Given the description of an element on the screen output the (x, y) to click on. 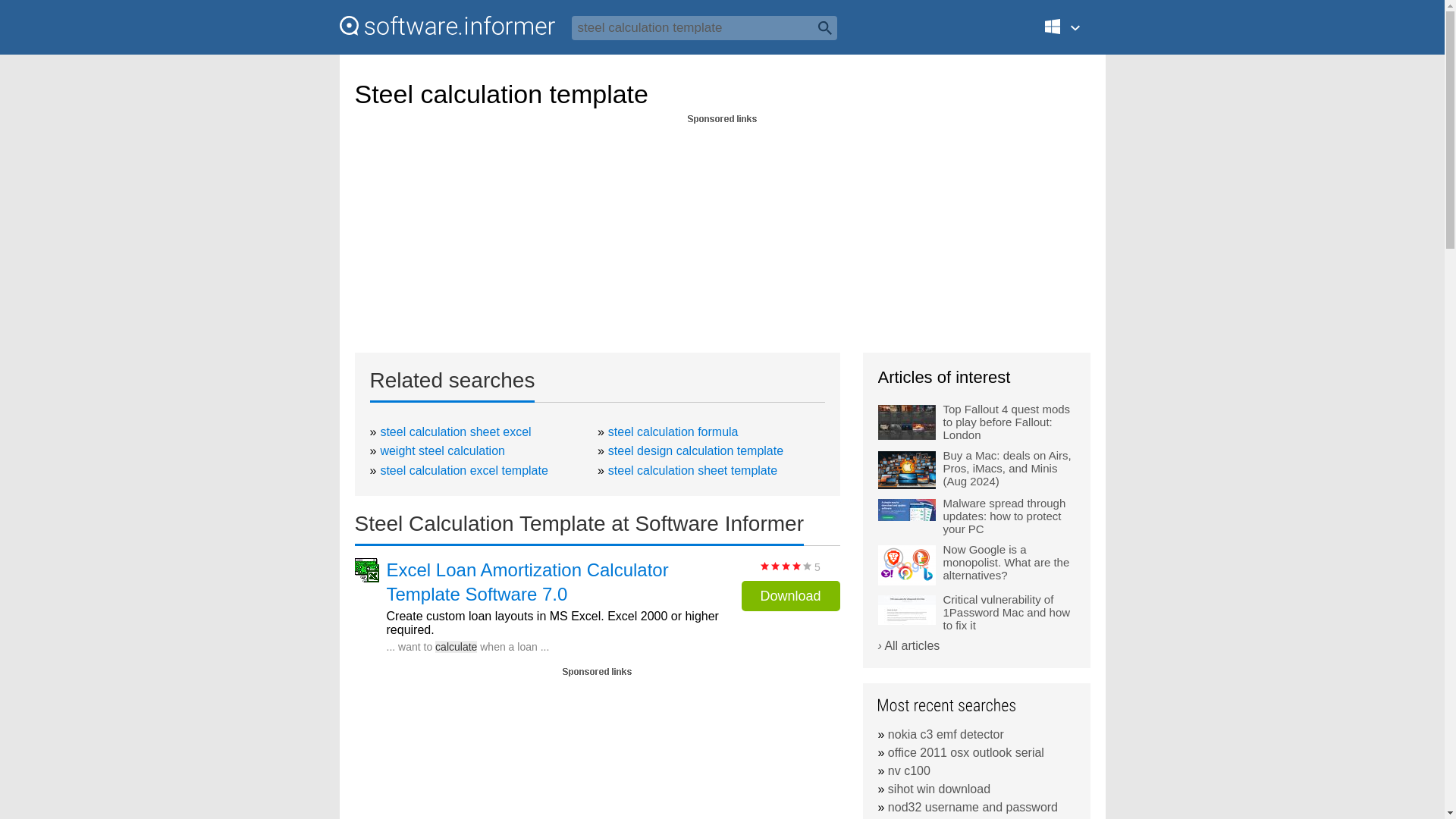
steel design calculation template (695, 450)
Excel Loan Amortization Calculator Template Software 7.0 (553, 581)
Windows (1070, 33)
Software downloads and reviews (446, 25)
Download (790, 595)
steel calculation sheet template (692, 470)
weight steel calculation (442, 450)
5 votes (785, 565)
